Given the description of an element on the screen output the (x, y) to click on. 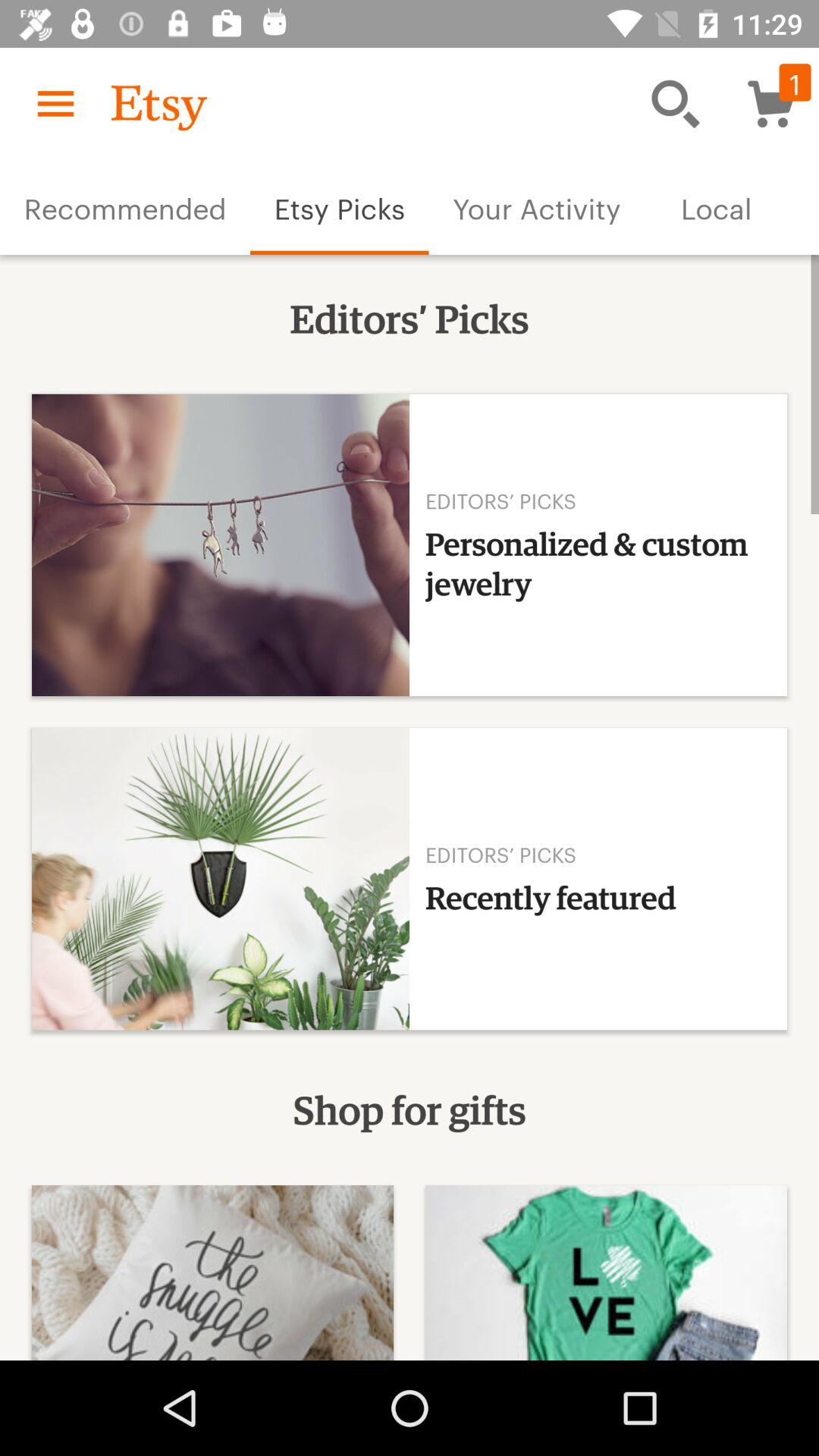
choose item above the your activity icon (675, 103)
